Given the description of an element on the screen output the (x, y) to click on. 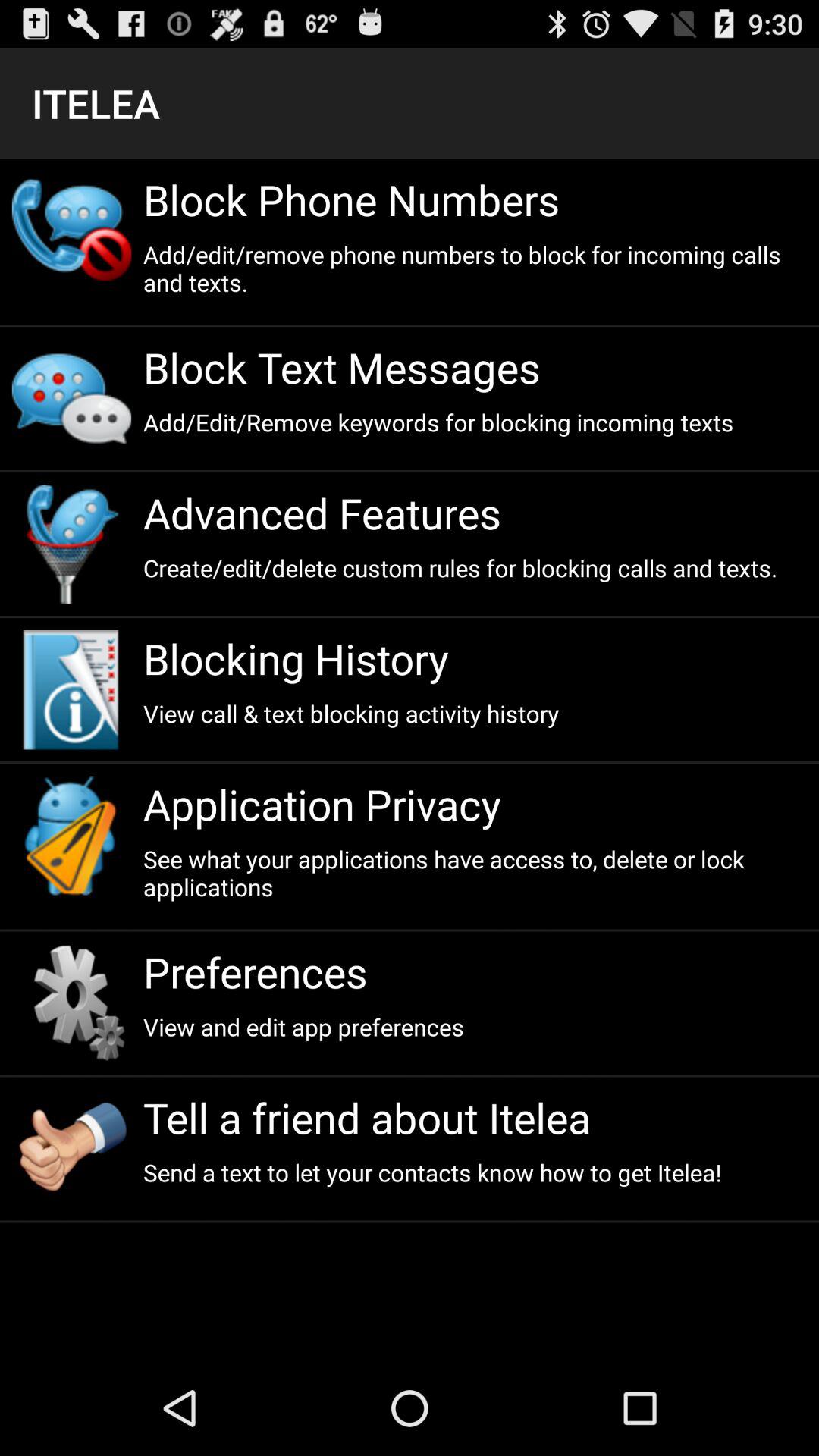
launch see what your (475, 872)
